Given the description of an element on the screen output the (x, y) to click on. 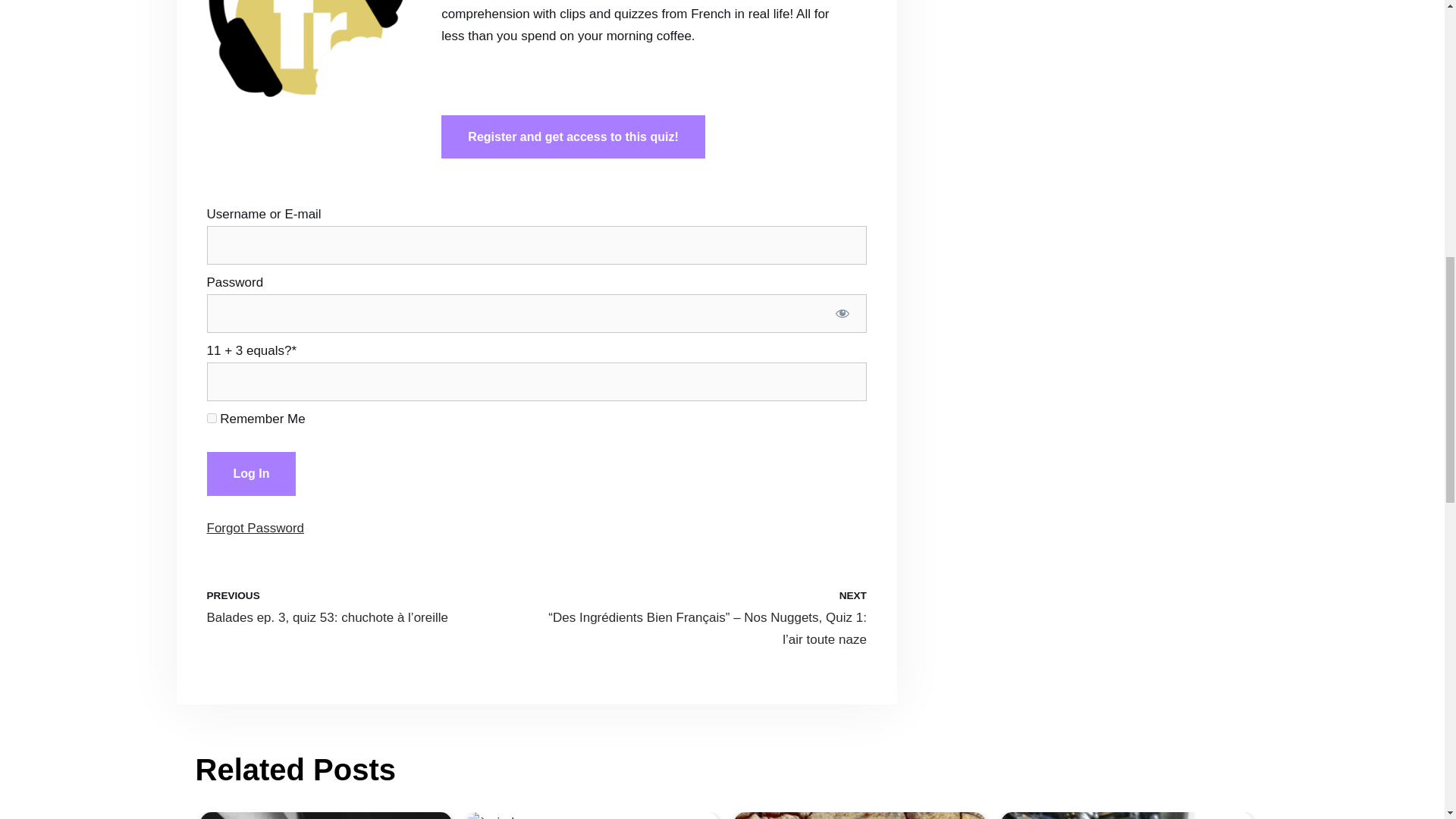
forever (210, 418)
haut a la taille - Bitesize French (325, 815)
Log In (250, 474)
